Given the description of an element on the screen output the (x, y) to click on. 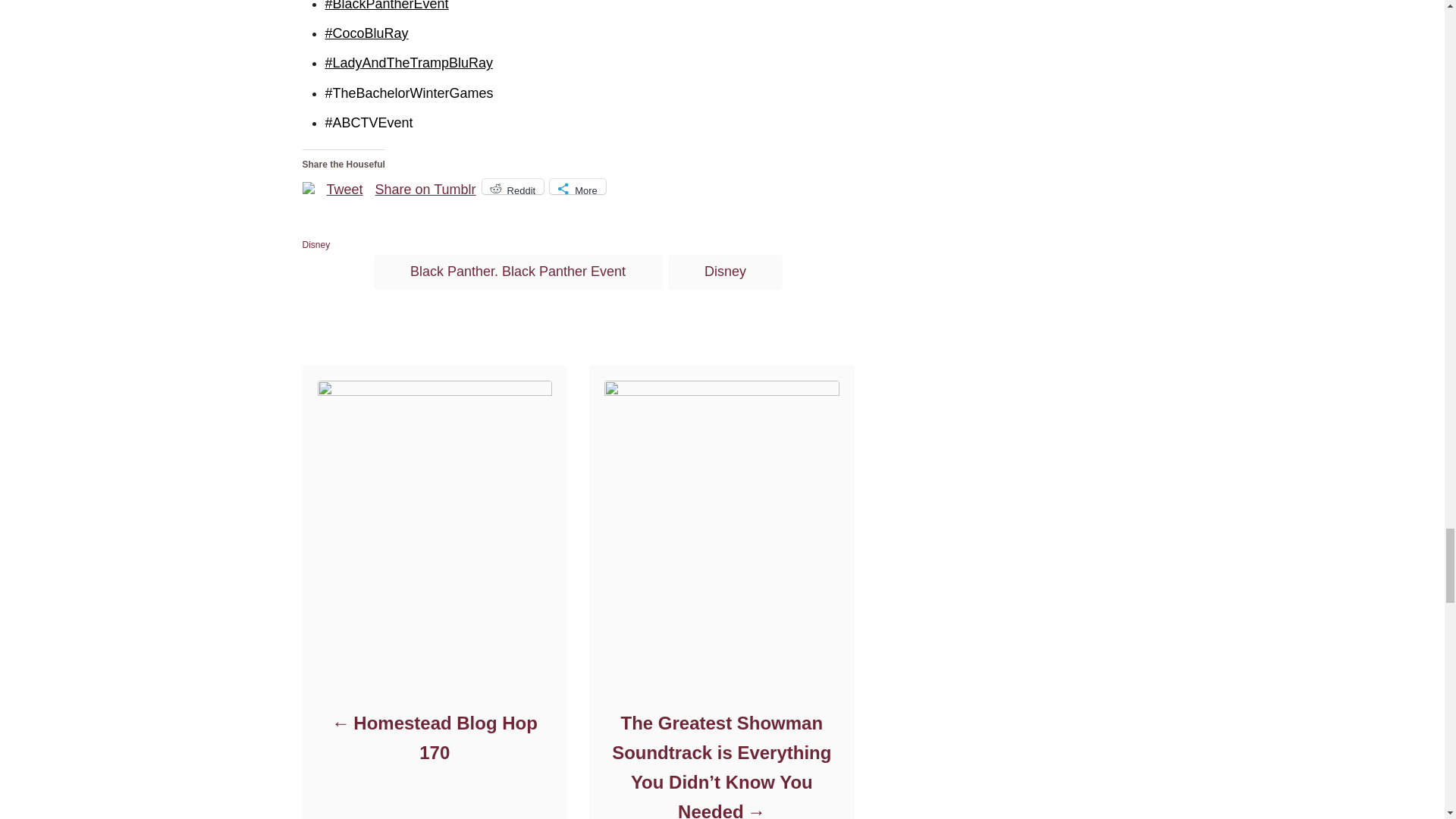
Black Panther. Black Panther Event (518, 271)
Click to share on Reddit (512, 186)
More (577, 186)
Reddit (512, 186)
Disney (725, 271)
Share on Tumblr (425, 185)
Tweet (344, 185)
Disney (315, 244)
Homestead Blog Hop 170 (434, 737)
Share on Tumblr (425, 185)
